Given the description of an element on the screen output the (x, y) to click on. 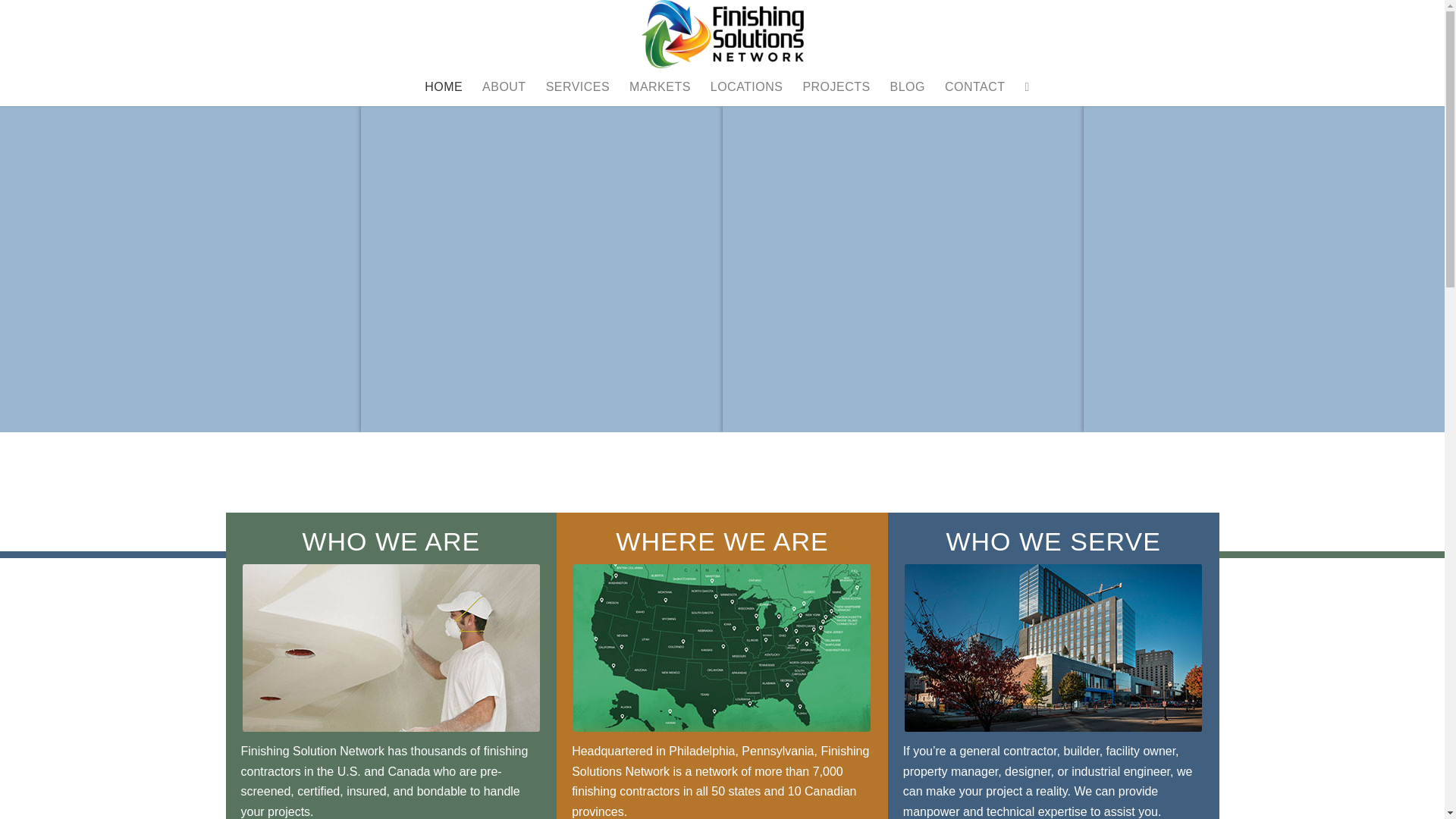
SERVICES (577, 86)
HOME (442, 86)
LOCATIONS (746, 86)
CONTACT (974, 86)
PROJECTS (835, 86)
ABOUT (503, 86)
BLOG (907, 86)
MARKETS (660, 86)
